Given the description of an element on the screen output the (x, y) to click on. 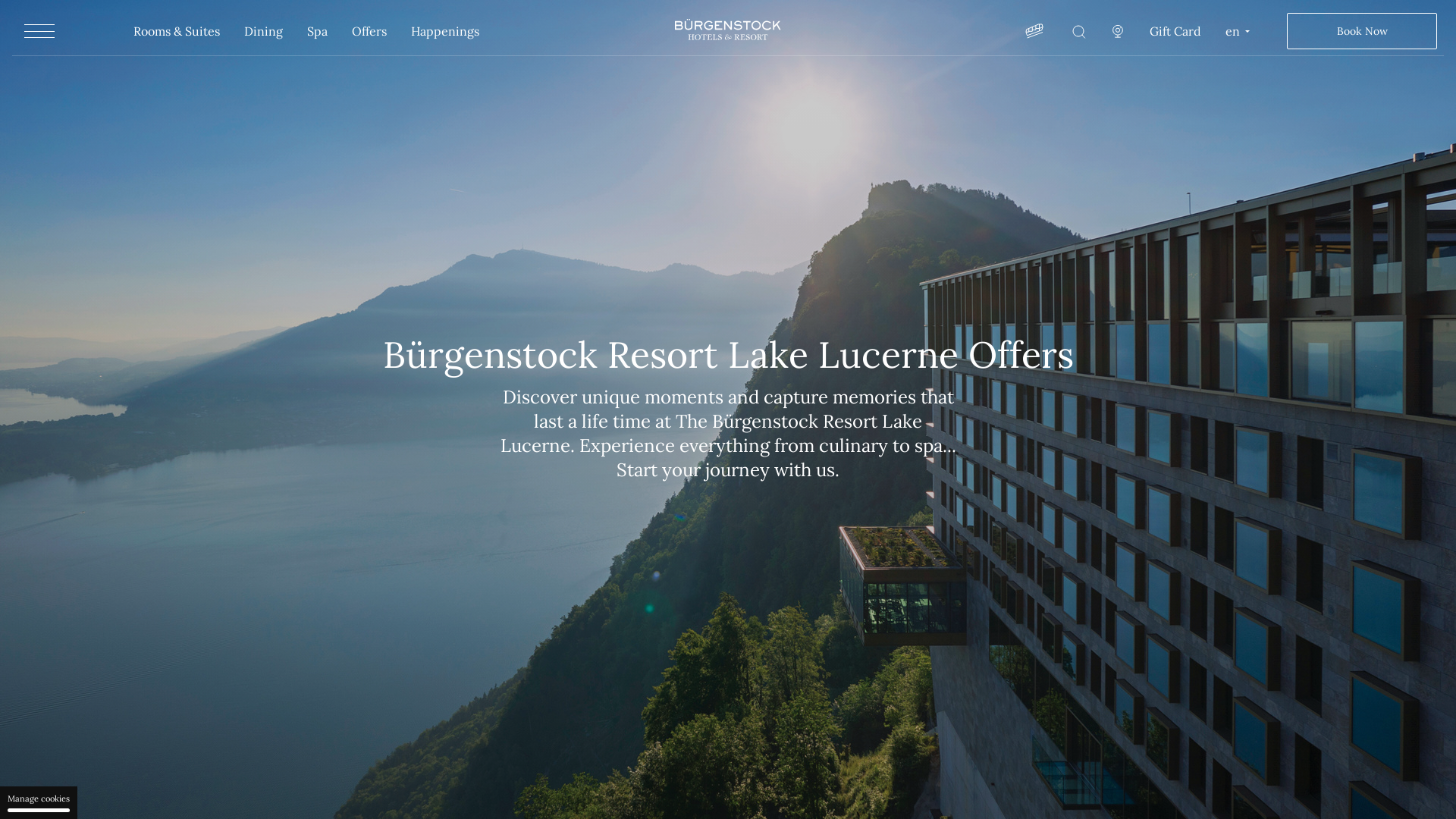
Book Now Element type: text (1361, 30)
Gift Card Element type: text (1175, 30)
Rooms & Suites Element type: text (176, 30)
en Element type: text (1236, 30)
Spa Element type: text (317, 30)
Dining Element type: text (263, 30)
Happenings Element type: text (445, 30)
Offers Element type: text (368, 30)
